Given the description of an element on the screen output the (x, y) to click on. 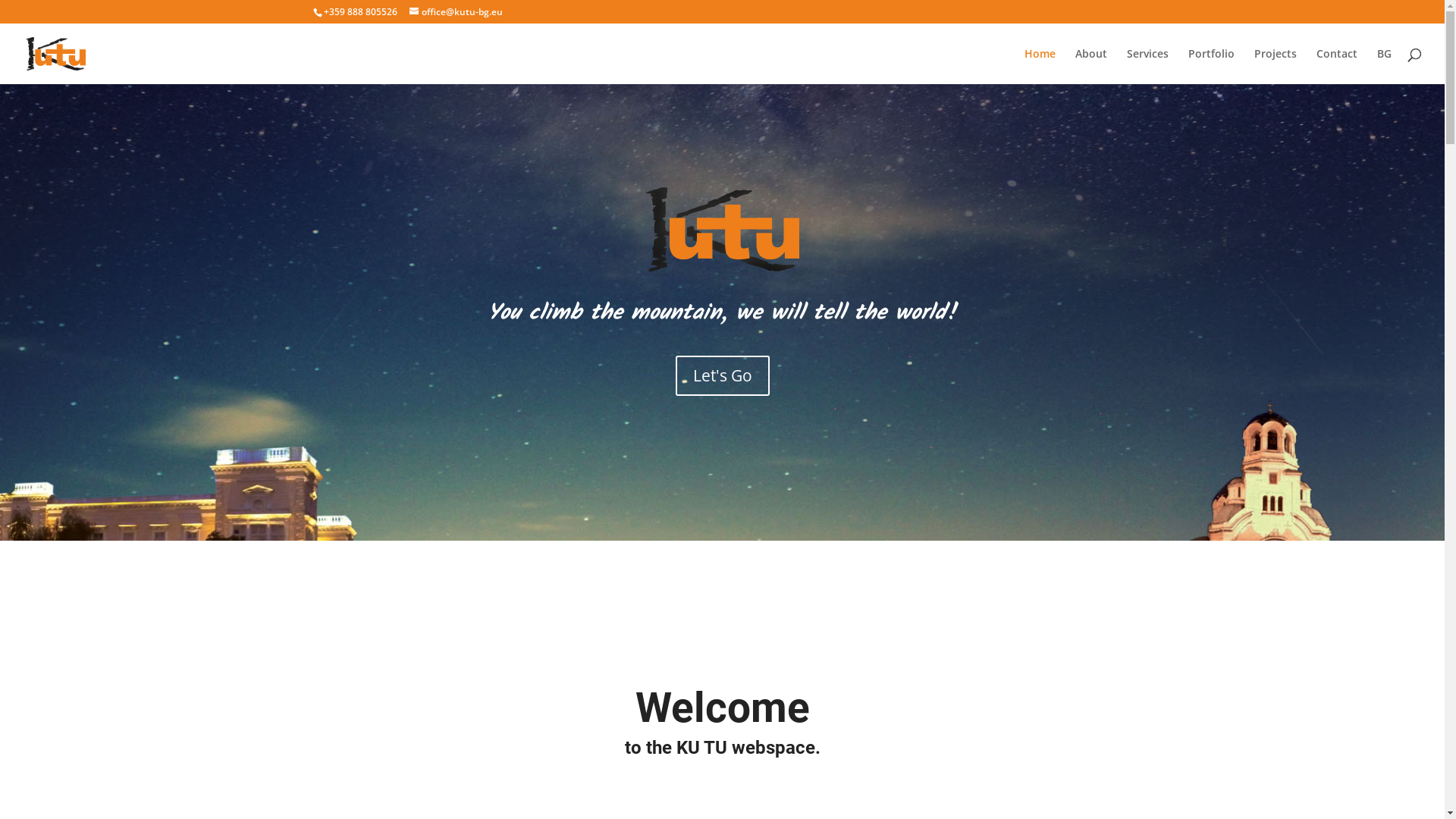
About Element type: text (1091, 66)
Portfolio Element type: text (1211, 66)
office@kutu-bg.eu Element type: text (455, 11)
BG Element type: text (1384, 66)
Services Element type: text (1147, 66)
Projects Element type: text (1275, 66)
Home Element type: text (1039, 66)
Contact Element type: text (1336, 66)
Let's Go Element type: text (721, 375)
